Given the description of an element on the screen output the (x, y) to click on. 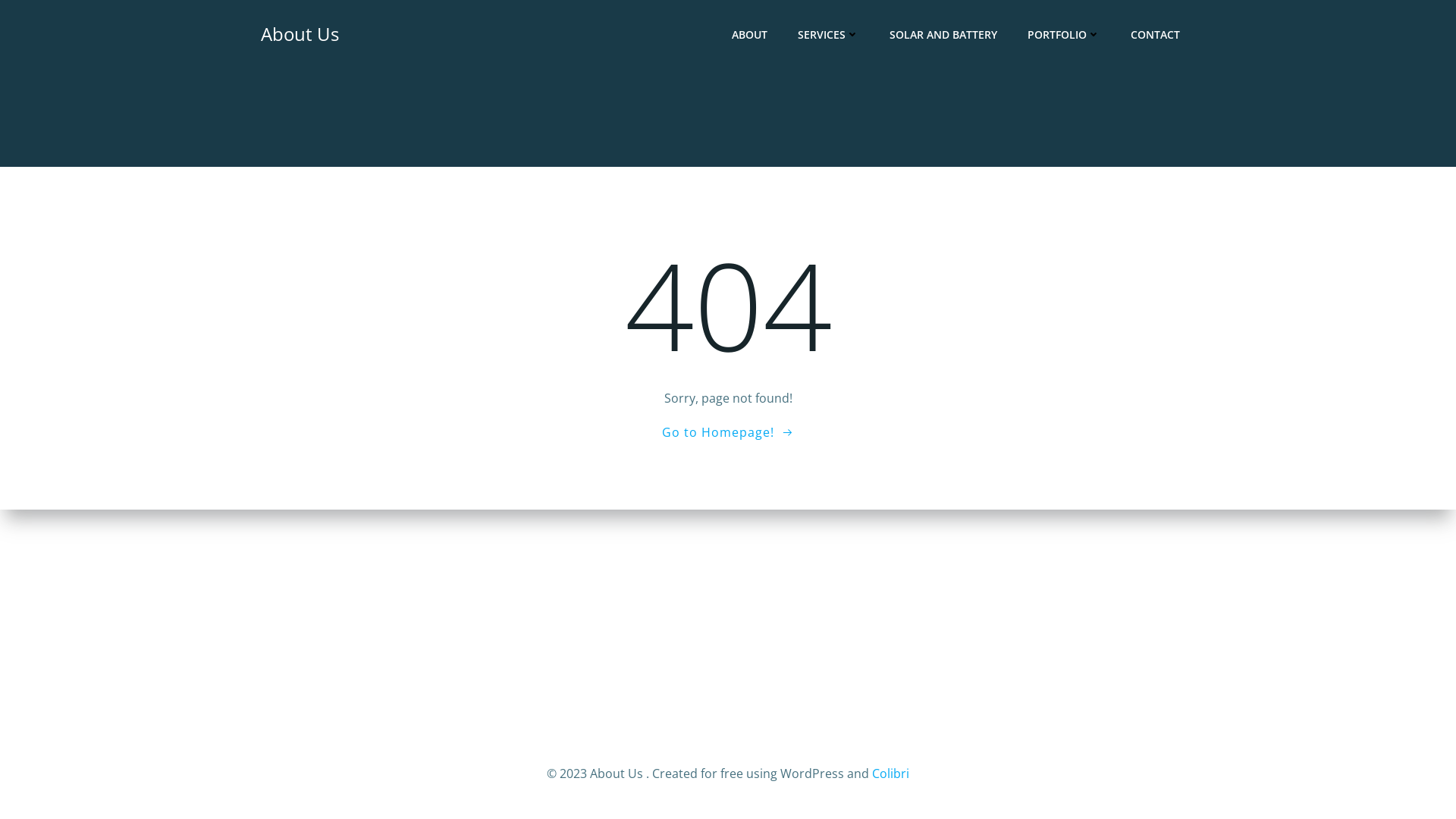
PORTFOLIO Element type: text (1063, 33)
Colibri Element type: text (890, 773)
ABOUT Element type: text (749, 33)
Go to Homepage! Element type: text (727, 432)
SOLAR AND BATTERY Element type: text (943, 33)
About Us Element type: text (299, 33)
CONTACT Element type: text (1154, 33)
SERVICES Element type: text (828, 33)
